Given the description of an element on the screen output the (x, y) to click on. 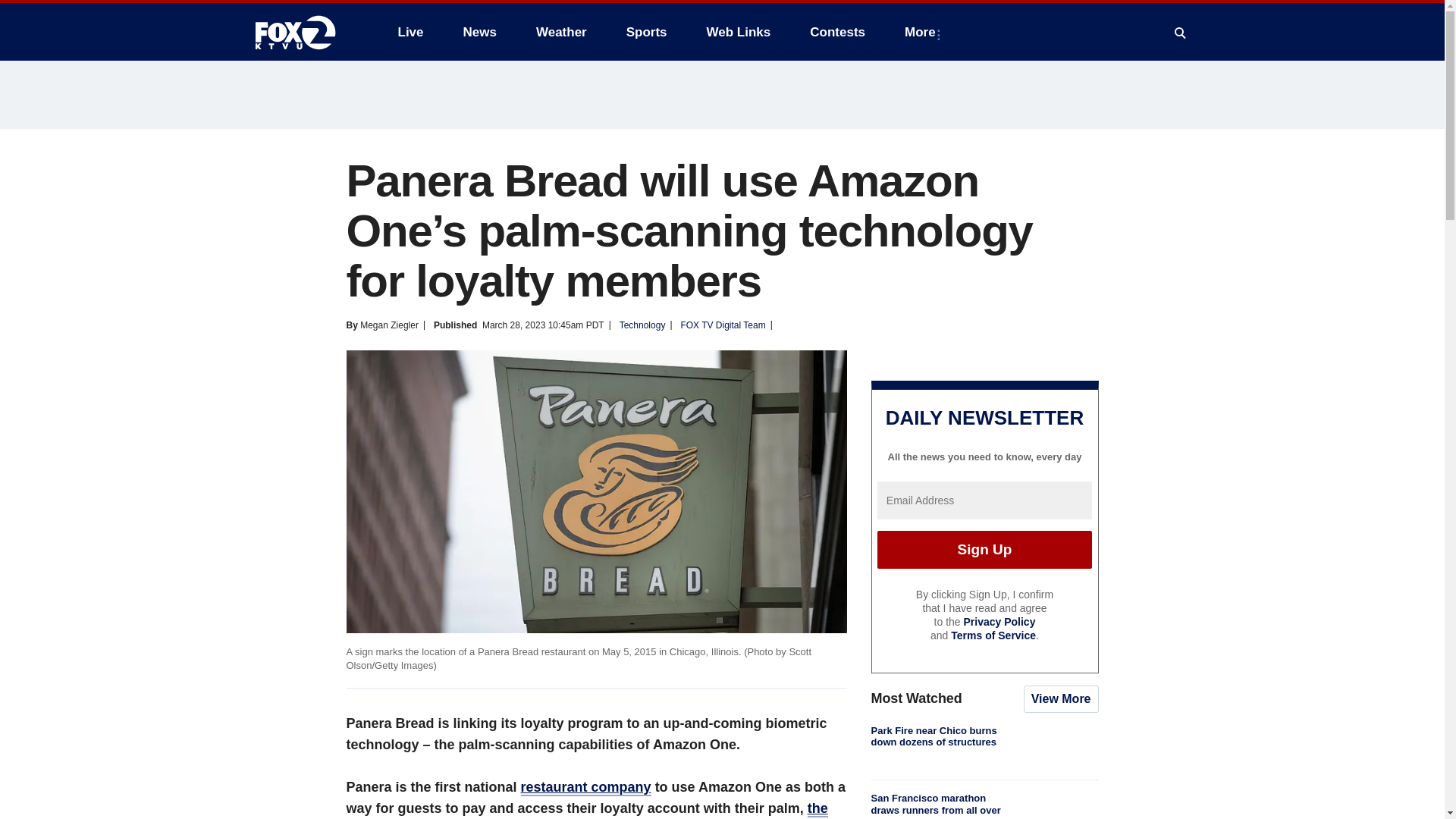
Sports (646, 32)
News (479, 32)
Live (410, 32)
Weather (561, 32)
Contests (837, 32)
Sign Up (984, 549)
Web Links (738, 32)
More (922, 32)
